Given the description of an element on the screen output the (x, y) to click on. 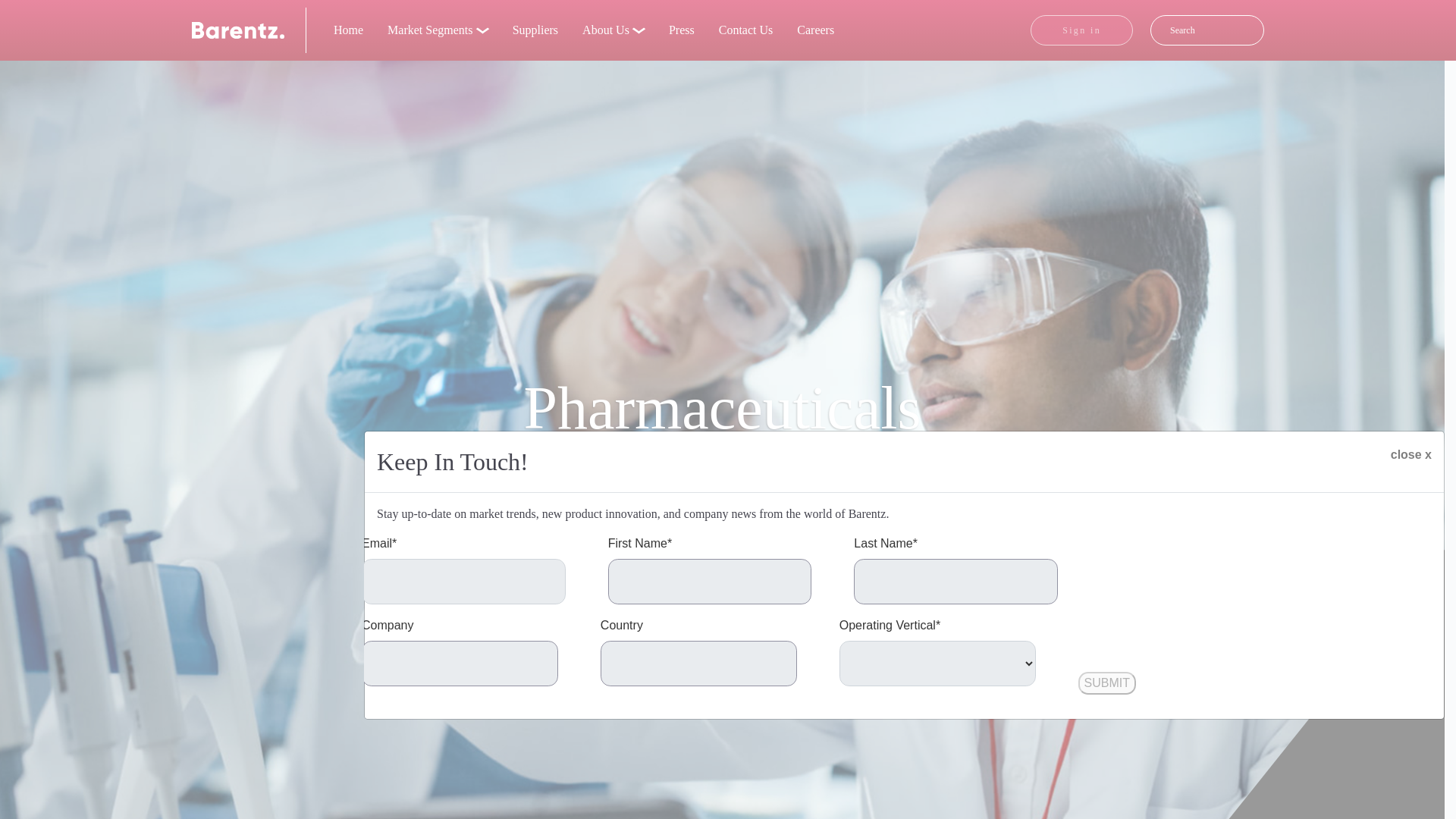
SUBMIT (1106, 682)
SUBMIT (1106, 682)
close x (1411, 452)
Careers (814, 30)
Market Segments (437, 30)
Press (681, 30)
About Us (613, 30)
Sign in (1081, 30)
Suppliers (535, 30)
Contact Us (746, 30)
Home (348, 30)
